Given the description of an element on the screen output the (x, y) to click on. 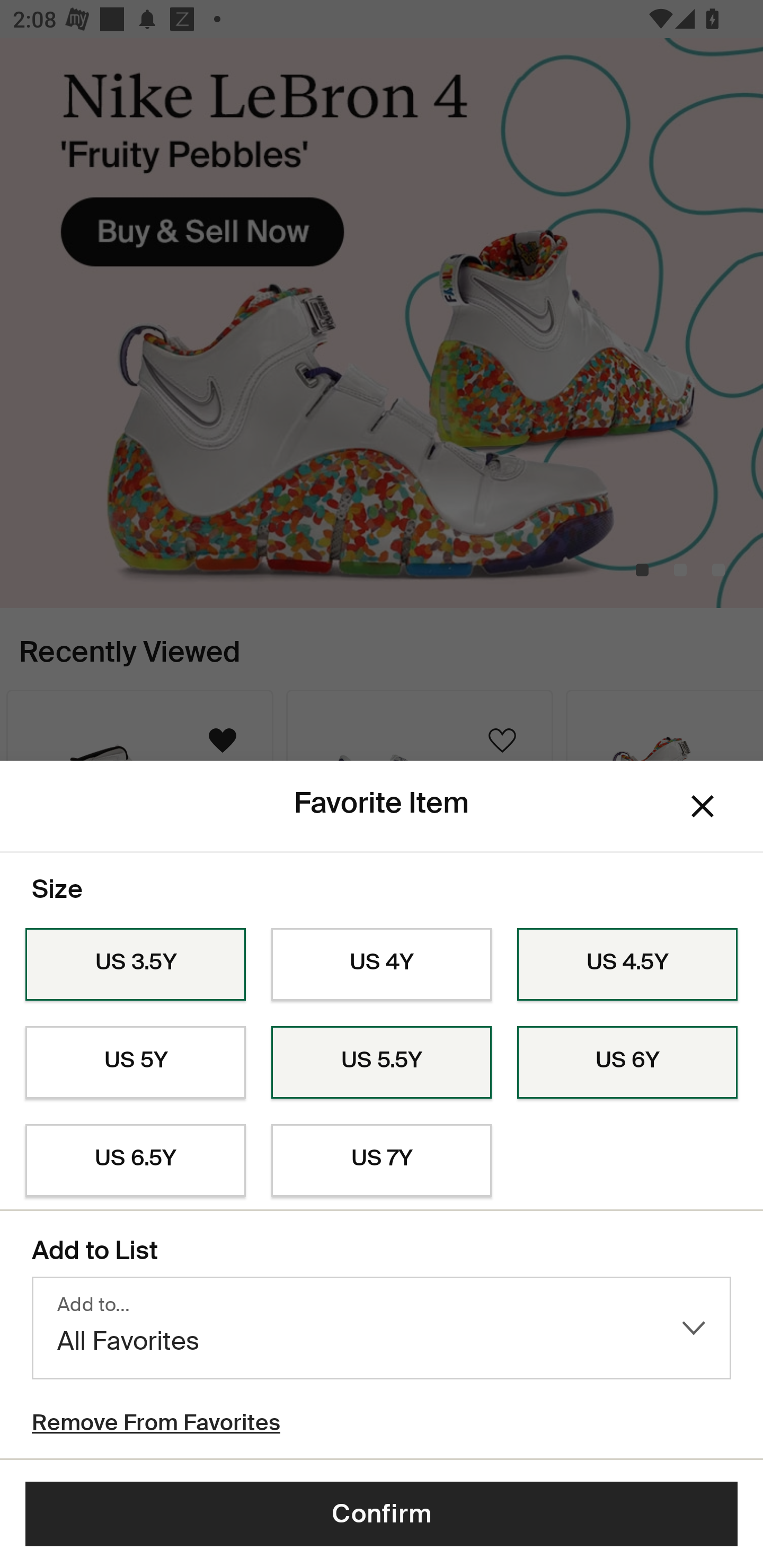
Dismiss (702, 806)
US 3.5Y (135, 964)
US 4Y (381, 964)
US 4.5Y (627, 964)
US 5Y (135, 1061)
US 5.5Y (381, 1061)
US 6Y (627, 1061)
US 6.5Y (135, 1160)
US 7Y (381, 1160)
Add to… All Favorites (381, 1327)
Remove From Favorites (156, 1424)
Confirm (381, 1513)
